Given the description of an element on the screen output the (x, y) to click on. 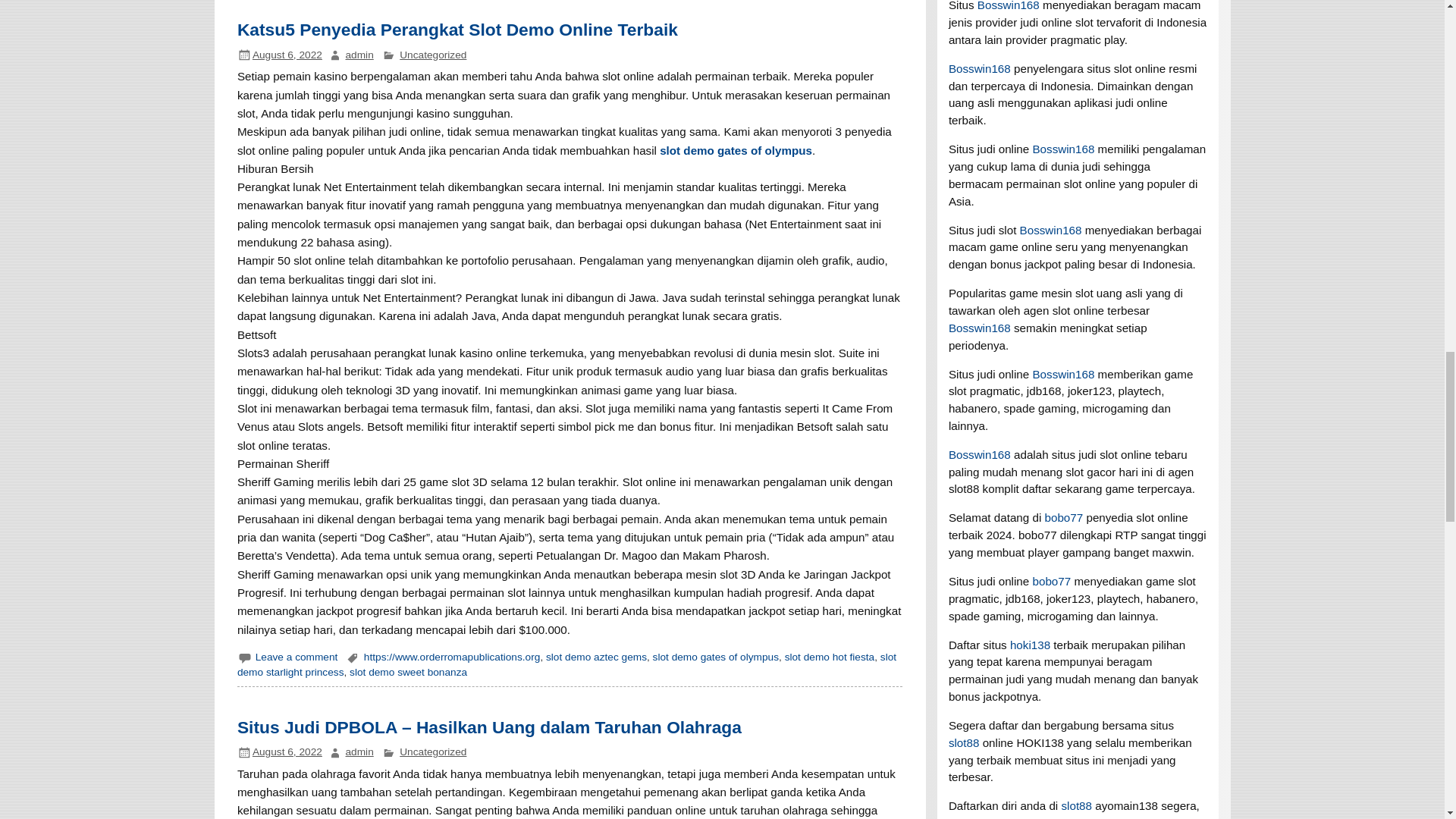
1:40 pm (286, 54)
admin (360, 54)
August 6, 2022 (286, 54)
View all posts by admin (360, 54)
Uncategorized (431, 54)
slot demo gates of olympus (735, 150)
11:59 am (286, 751)
View all posts by admin (360, 751)
Katsu5 Penyedia Perangkat Slot Demo Online Terbaik (457, 29)
Leave a comment (296, 656)
